Given the description of an element on the screen output the (x, y) to click on. 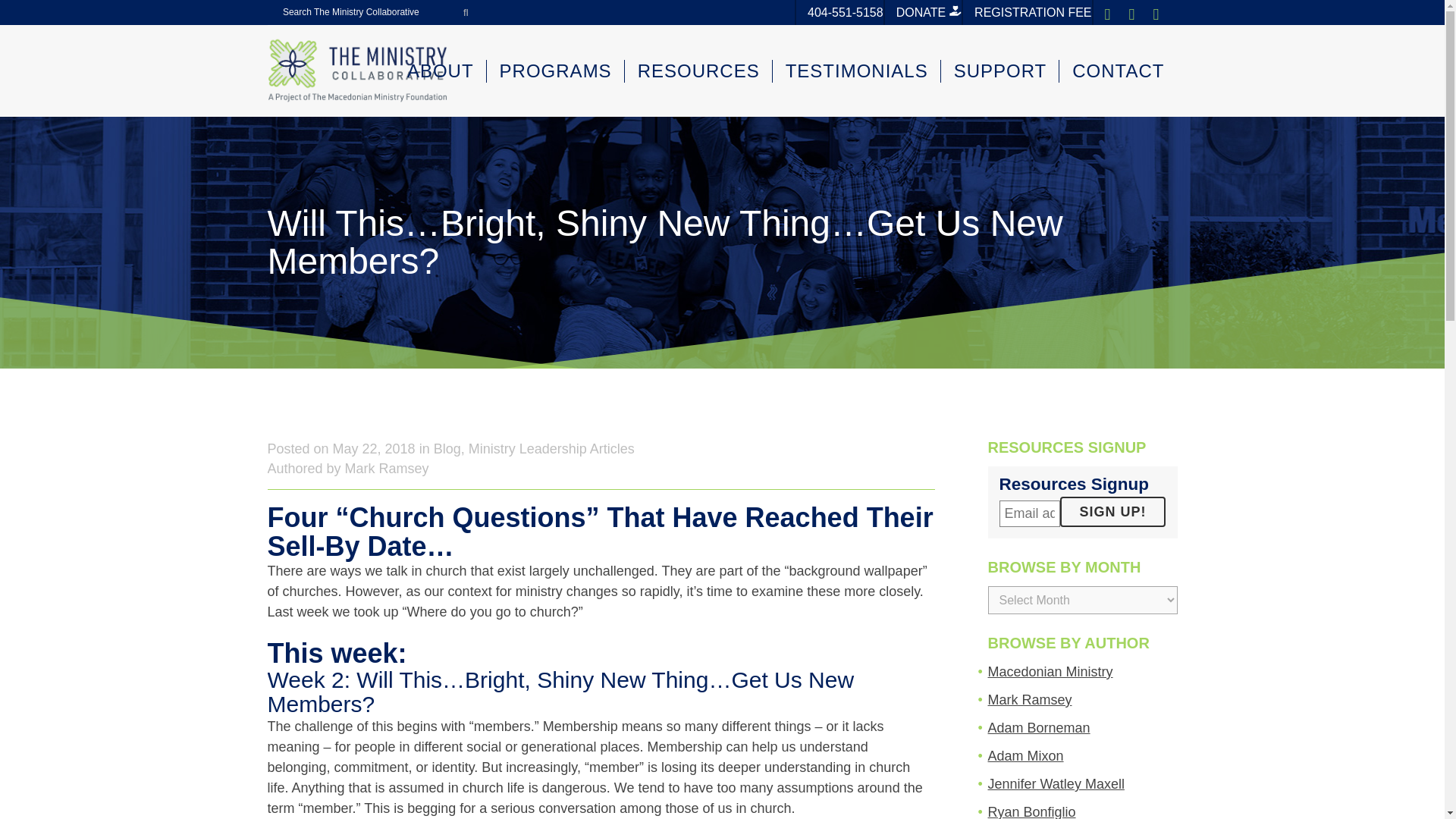
Posts by Jennifer Watley Maxell (1055, 783)
REGISTRATION FEE (1027, 12)
DONATE (923, 12)
Posts by Macedonian Ministry (1049, 671)
Sign Up! (1111, 511)
Posts by Ryan Bonfiglio (1031, 811)
ABOUT (440, 71)
404-551-5158 (839, 12)
CONTACT (1117, 71)
SUPPORT (999, 71)
PROGRAMS (555, 71)
Posts by Adam Mixon (1024, 755)
RESOURCES (698, 71)
TESTIMONIALS (856, 71)
Posts by Mark Ramsey (1029, 699)
